Given the description of an element on the screen output the (x, y) to click on. 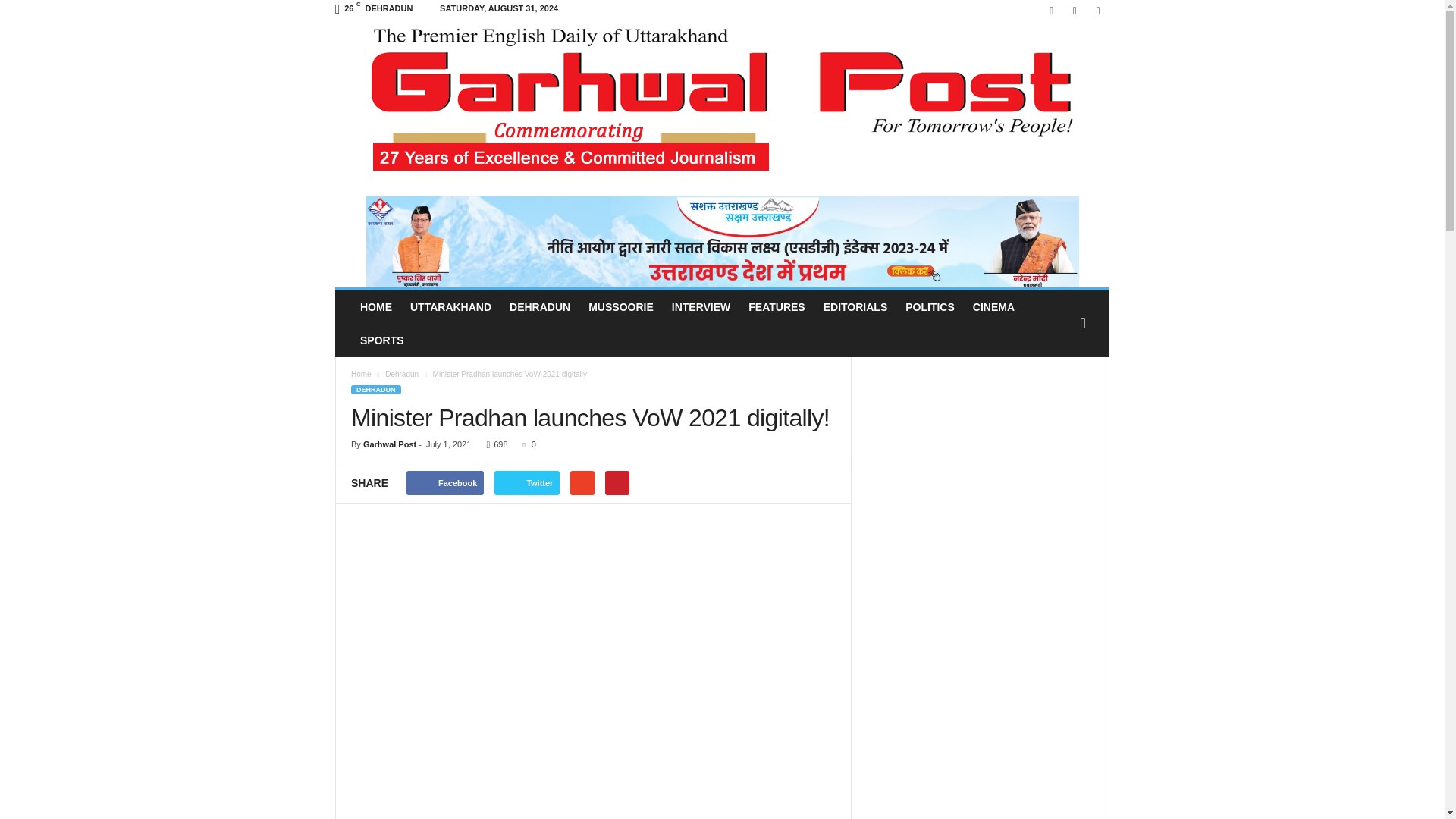
INTERVIEW (700, 306)
UTTARAKHAND (450, 306)
DEHRADUN (539, 306)
MUSSOORIE (620, 306)
Home (361, 374)
HOME (375, 306)
EDITORIALS (854, 306)
Dehradun (402, 374)
FEATURES (776, 306)
